Given the description of an element on the screen output the (x, y) to click on. 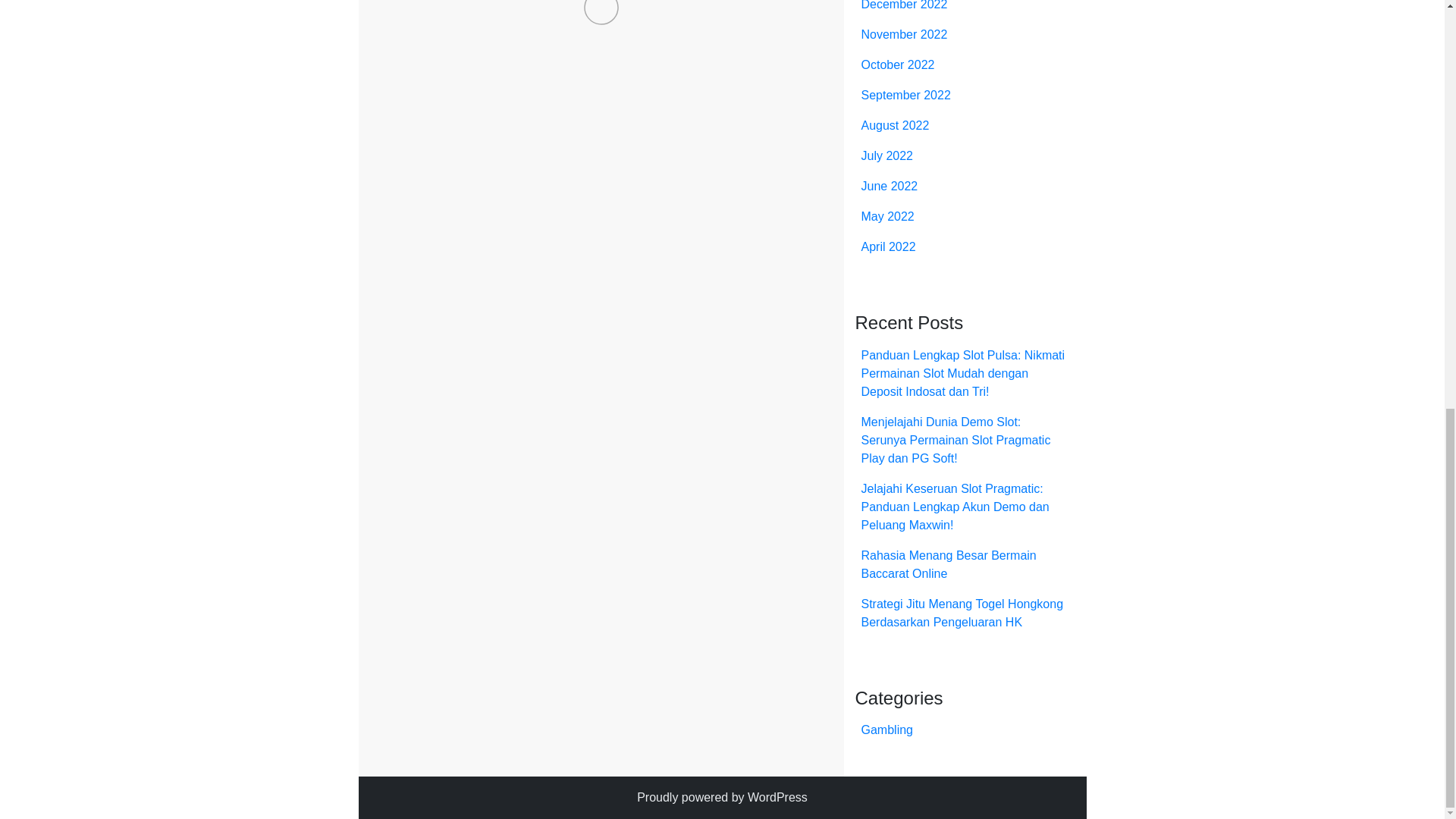
May 2022 (887, 215)
June 2022 (889, 185)
Gambling (449, 168)
August 2022 (895, 124)
December 2022 (904, 5)
April 2022 (888, 246)
October 2022 (897, 64)
July 2022 (887, 155)
